Given the description of an element on the screen output the (x, y) to click on. 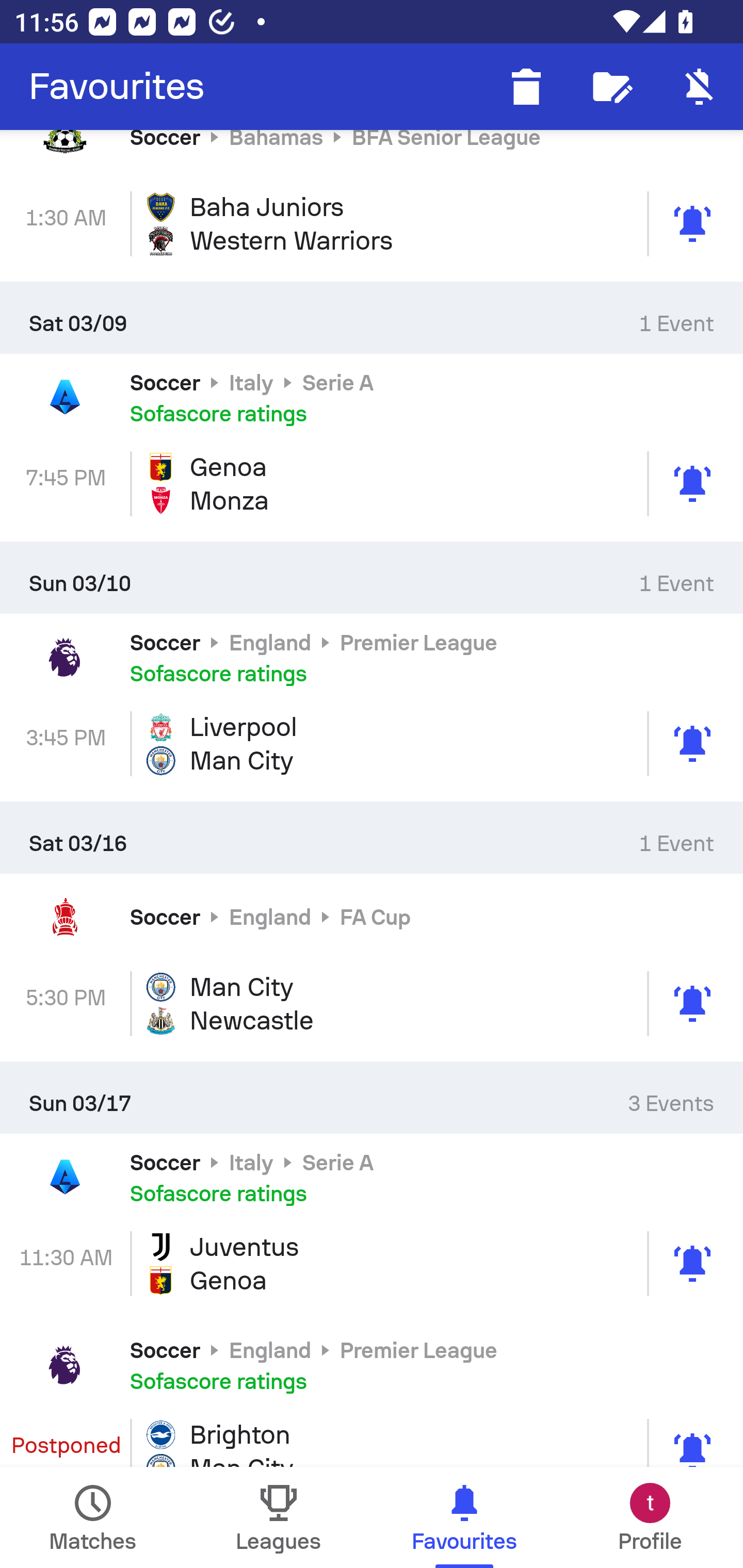
Favourites (116, 86)
Delete finished (525, 86)
Follow editor (612, 86)
Enable notifications (699, 86)
1:30 AM Baha Juniors Western Warriors (371, 223)
Sat 03/09 1 Event (371, 318)
Soccer Italy Serie A Sofascore ratings (371, 397)
7:45 PM Genoa Monza (371, 483)
Sun 03/10 1 Event (371, 576)
Soccer England Premier League Sofascore ratings (371, 656)
3:45 PM Liverpool Man City (371, 743)
Sat 03/16 1 Event (371, 837)
Soccer England FA Cup (371, 916)
5:30 PM Man City Newcastle (371, 1003)
Sun 03/17 3 Events (371, 1097)
Soccer Italy Serie A Sofascore ratings (371, 1176)
11:30 AM Juventus Genoa (371, 1263)
Soccer England Premier League Sofascore ratings (371, 1364)
Matches (92, 1517)
Leagues (278, 1517)
Profile (650, 1517)
